Given the description of an element on the screen output the (x, y) to click on. 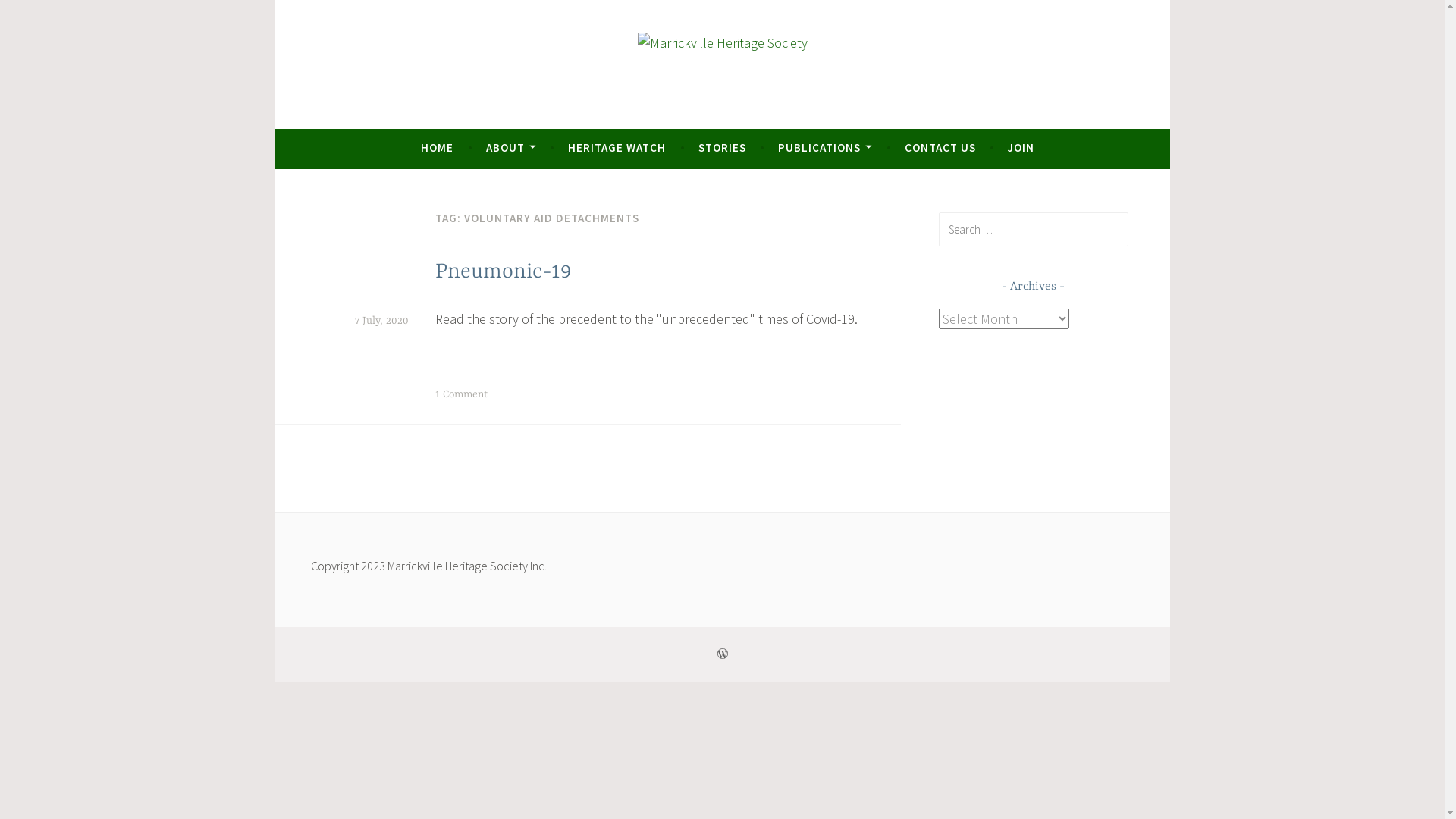
HOME Element type: text (436, 147)
CREATE A WEBSITE OR BLOG AT WORDPRESS.COM Element type: text (722, 653)
7 July, 2020 Element type: text (381, 320)
Marrickville Heritage Society Element type: text (517, 122)
STORIES Element type: text (722, 147)
1 Comment Element type: text (461, 394)
Pneumonic-19 Element type: text (503, 272)
ABOUT Element type: text (511, 147)
PUBLICATIONS Element type: text (825, 147)
JOIN Element type: text (1020, 147)
HERITAGE WATCH Element type: text (616, 147)
CONTACT US Element type: text (939, 147)
Search Element type: text (33, 15)
